Given the description of an element on the screen output the (x, y) to click on. 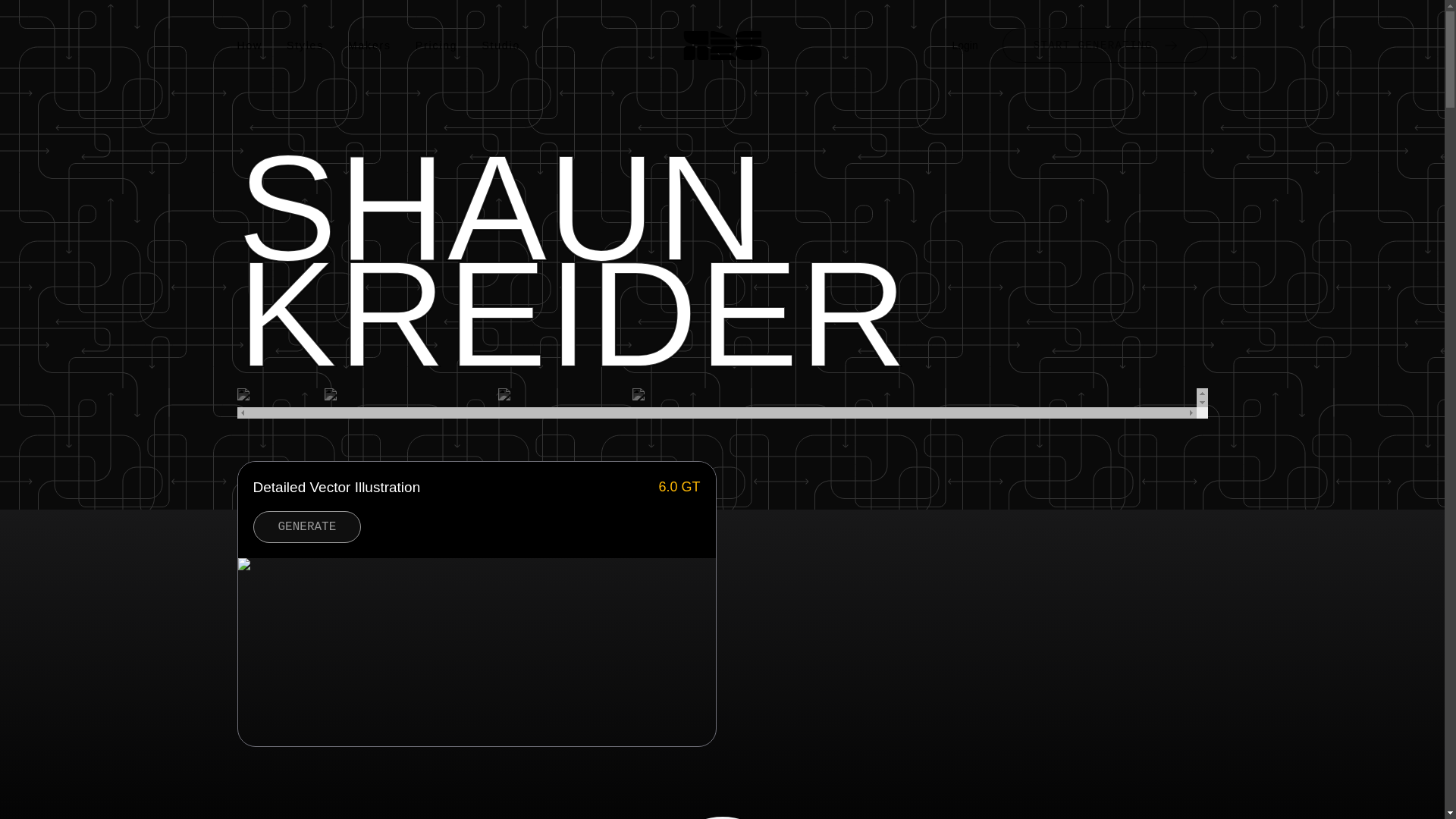
Pricing (436, 45)
Makers (369, 45)
GENERATE (307, 526)
How (248, 45)
Start Generating (1105, 45)
START GENERATING (1105, 45)
Studio (500, 45)
Detailed Vector Illustration (451, 487)
Styles (304, 45)
Login (964, 45)
